Given the description of an element on the screen output the (x, y) to click on. 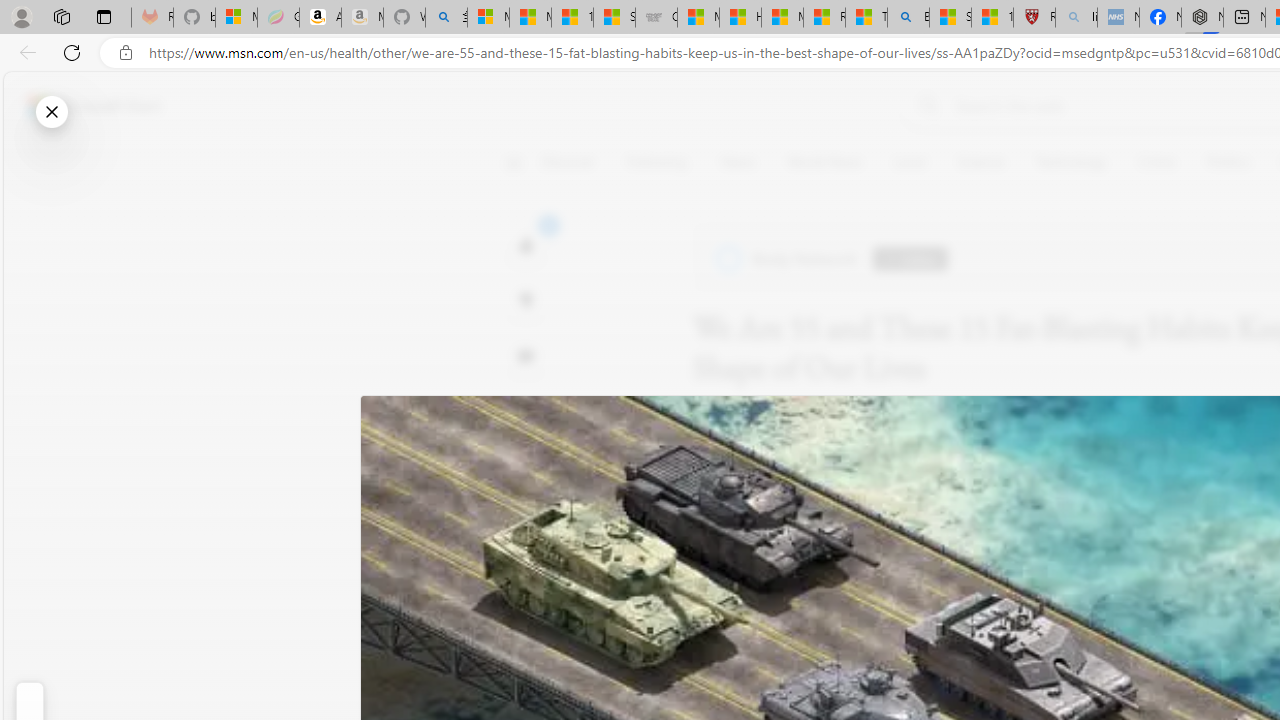
6 (525, 300)
